Given the description of an element on the screen output the (x, y) to click on. 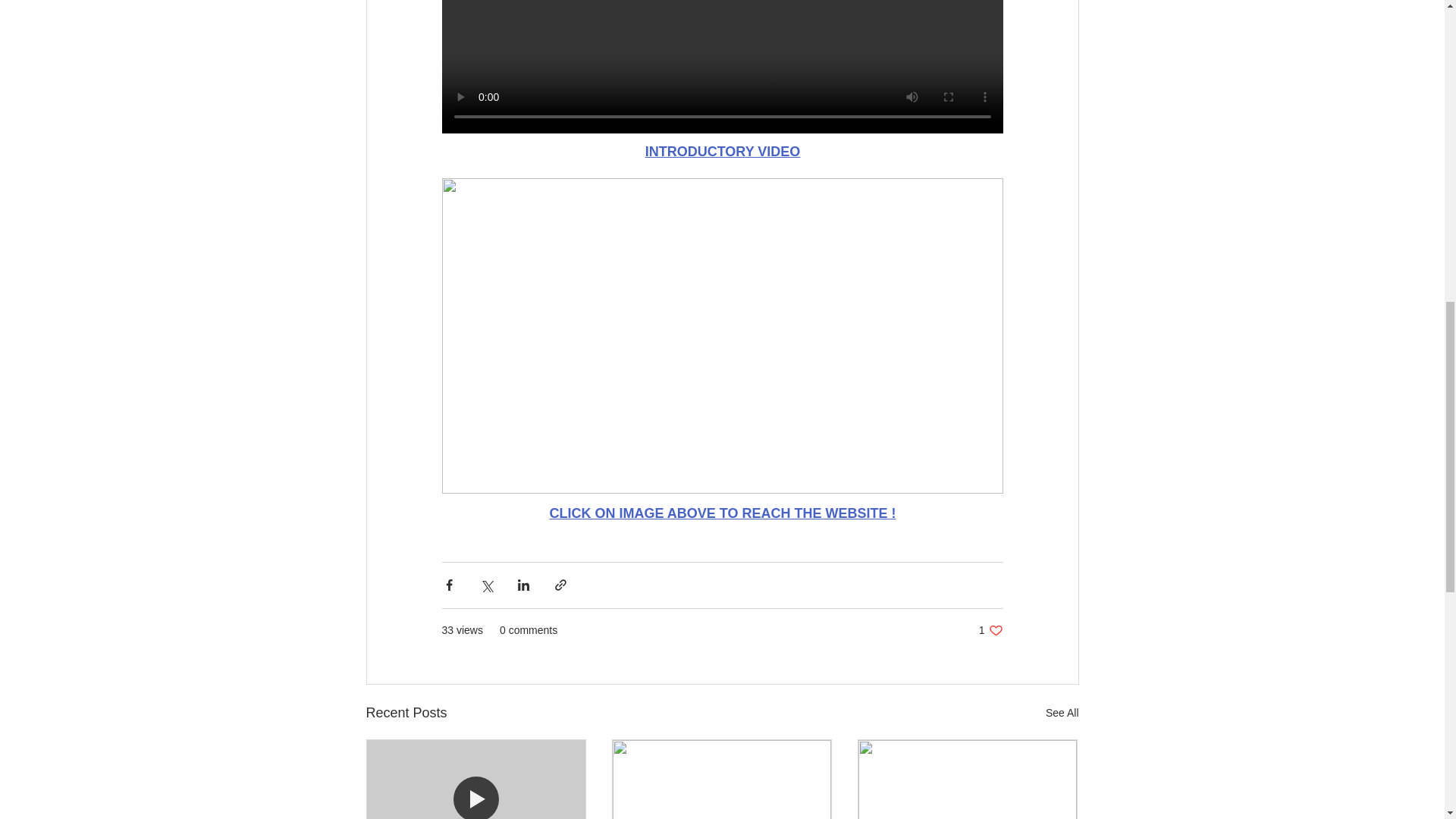
See All (990, 630)
